Given the description of an element on the screen output the (x, y) to click on. 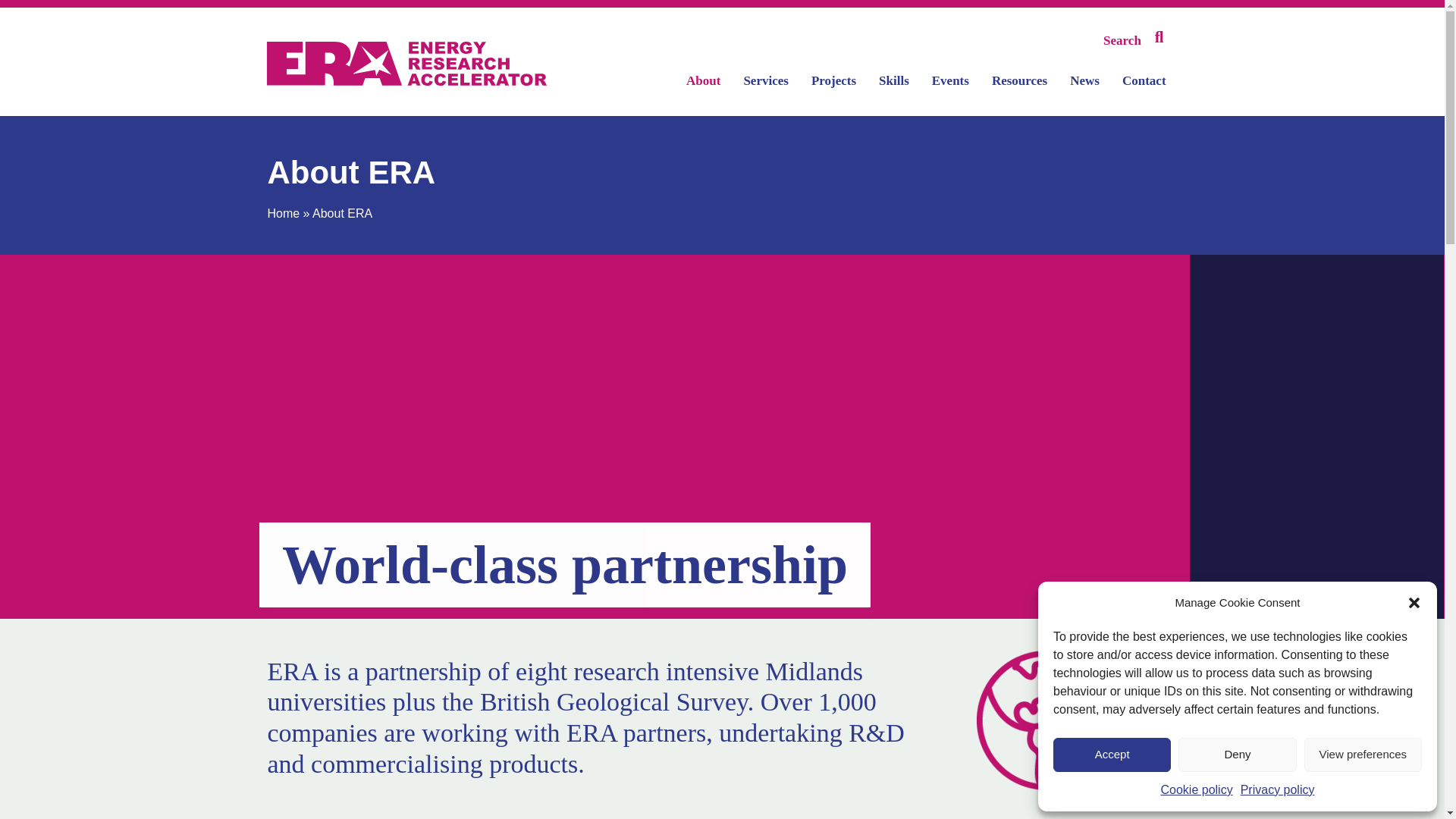
Search (1136, 38)
Deny (1236, 754)
Privacy policy (1277, 789)
View preferences (1363, 754)
About (703, 78)
Resources (1019, 78)
Accept (1111, 754)
Our services (764, 78)
Services (764, 78)
Events (950, 78)
Cookie policy (1196, 789)
icon-globe (1052, 720)
Projects (833, 78)
